Given the description of an element on the screen output the (x, y) to click on. 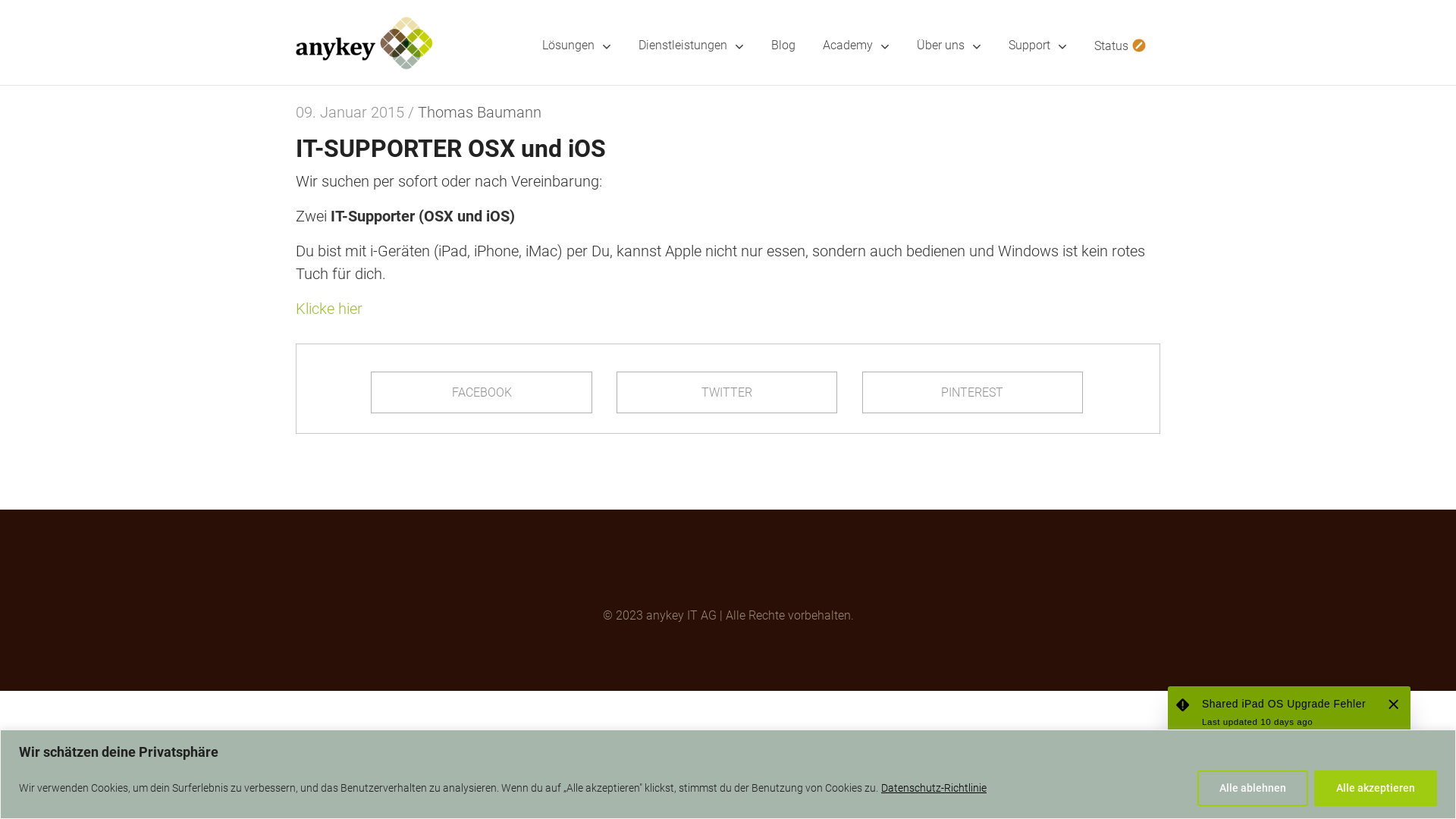
PINTEREST Element type: text (972, 392)
Alle ablehnen Element type: text (1252, 788)
FACEBOOK Element type: text (480, 392)
Alle akzeptieren Element type: text (1375, 788)
Datenschutz-Richtlinie Element type: text (933, 787)
Academy Element type: text (856, 28)
Klicke hier Element type: text (328, 308)
Support Element type: text (1037, 28)
Dienstleistungen Element type: text (690, 28)
TWITTER Element type: text (726, 392)
Thomas Baumann Element type: text (479, 112)
Status Element type: text (1120, 29)
Blog Element type: text (783, 28)
anykey  Status Status Element type: hover (1288, 729)
